Given the description of an element on the screen output the (x, y) to click on. 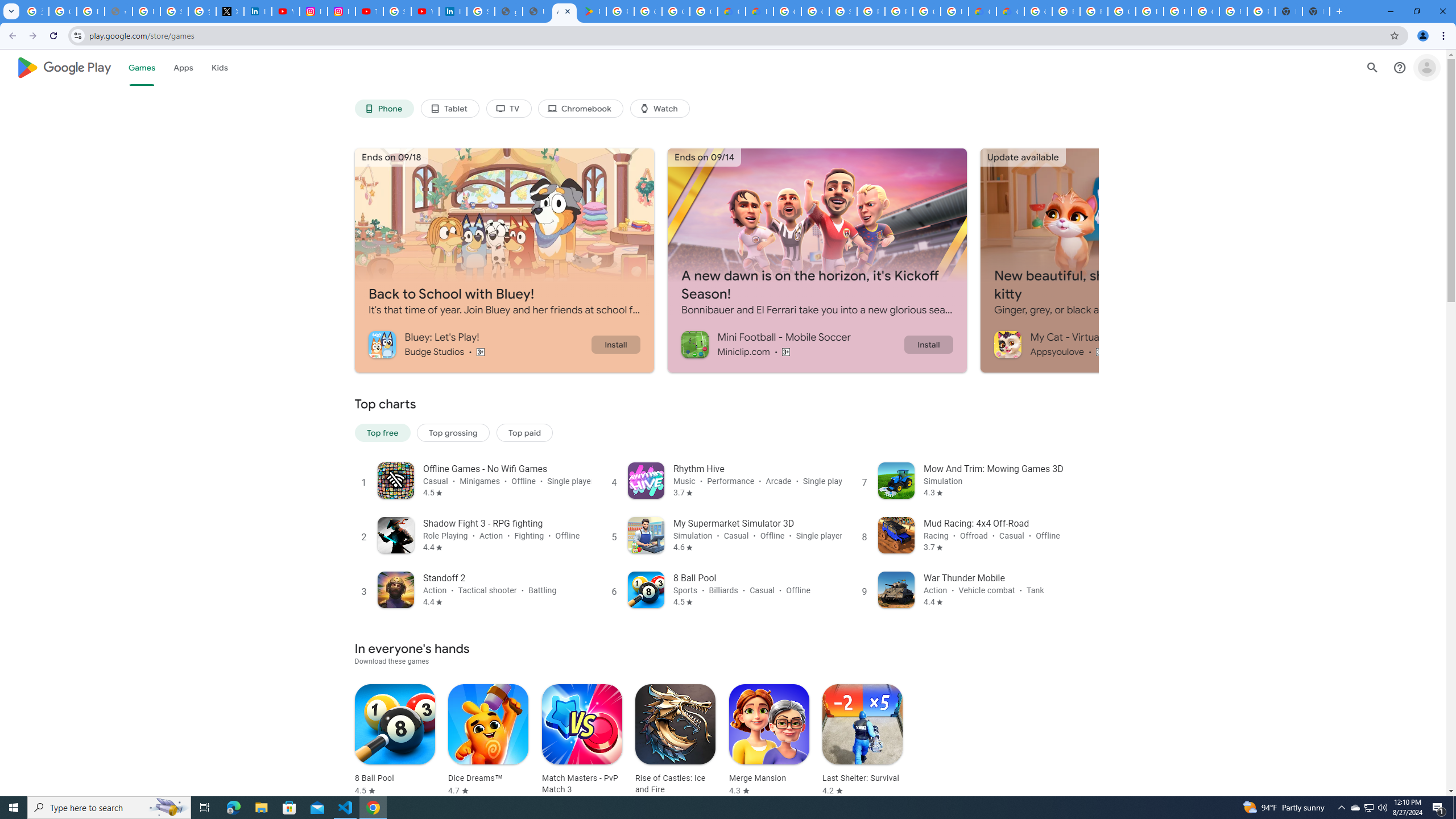
Open account menu (1426, 67)
Google Cloud Platform (926, 11)
8 Ball Pool Rated 4.5 stars out of five stars (394, 739)
New Tab (1316, 11)
Android Apps on Google Play (564, 11)
Google Workspace - Specific Terms (675, 11)
